Given the description of an element on the screen output the (x, y) to click on. 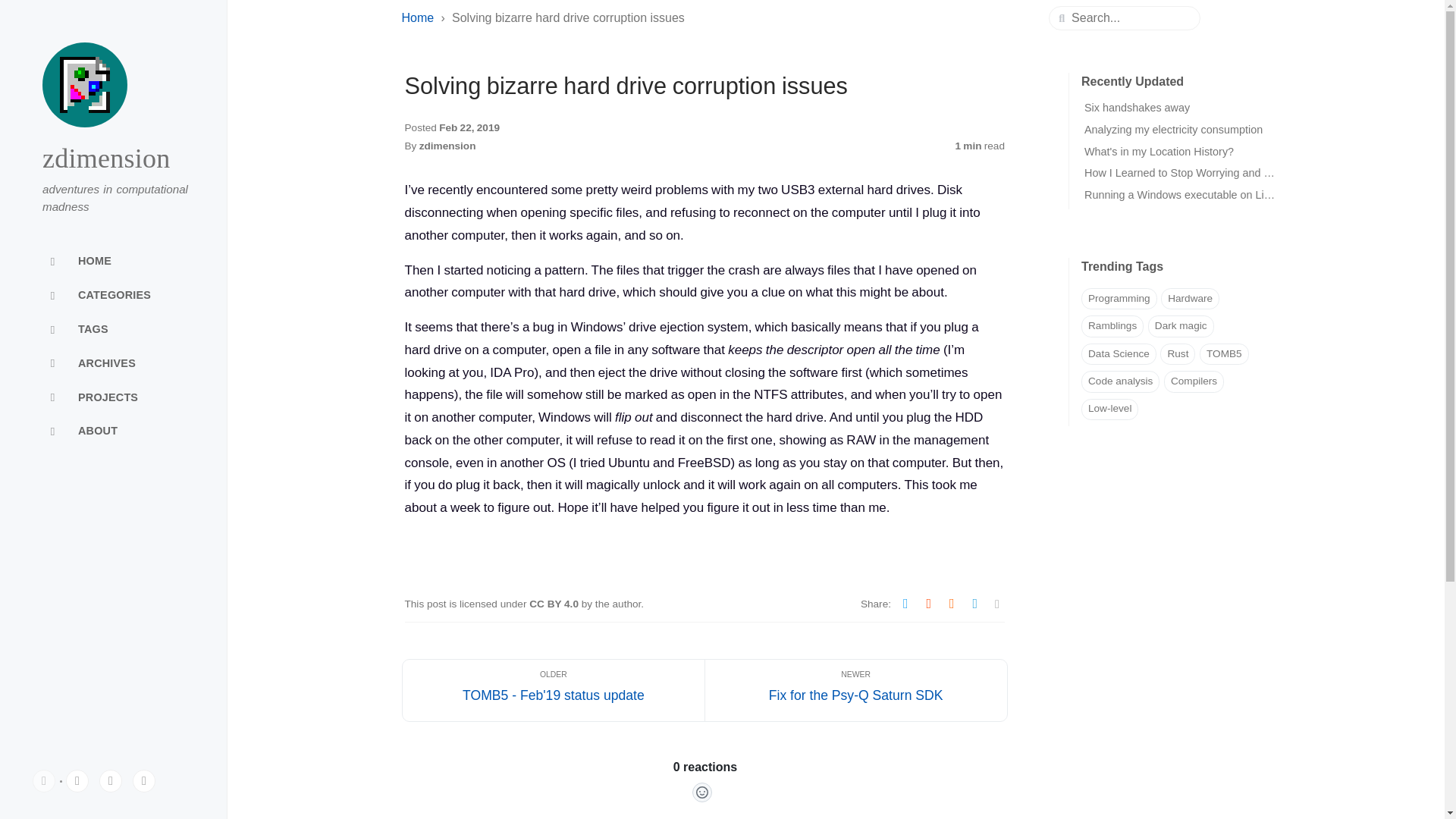
Low-level (1109, 409)
Comments (705, 788)
Hardware (1190, 298)
zdimension (447, 145)
TOMB5 - Feb'19 status update (552, 690)
How I Learned to Stop Worrying and Love Macros (1205, 173)
zdimension (106, 158)
Six handshakes away (1136, 107)
HOME (113, 261)
PROJECTS (113, 397)
